Given the description of an element on the screen output the (x, y) to click on. 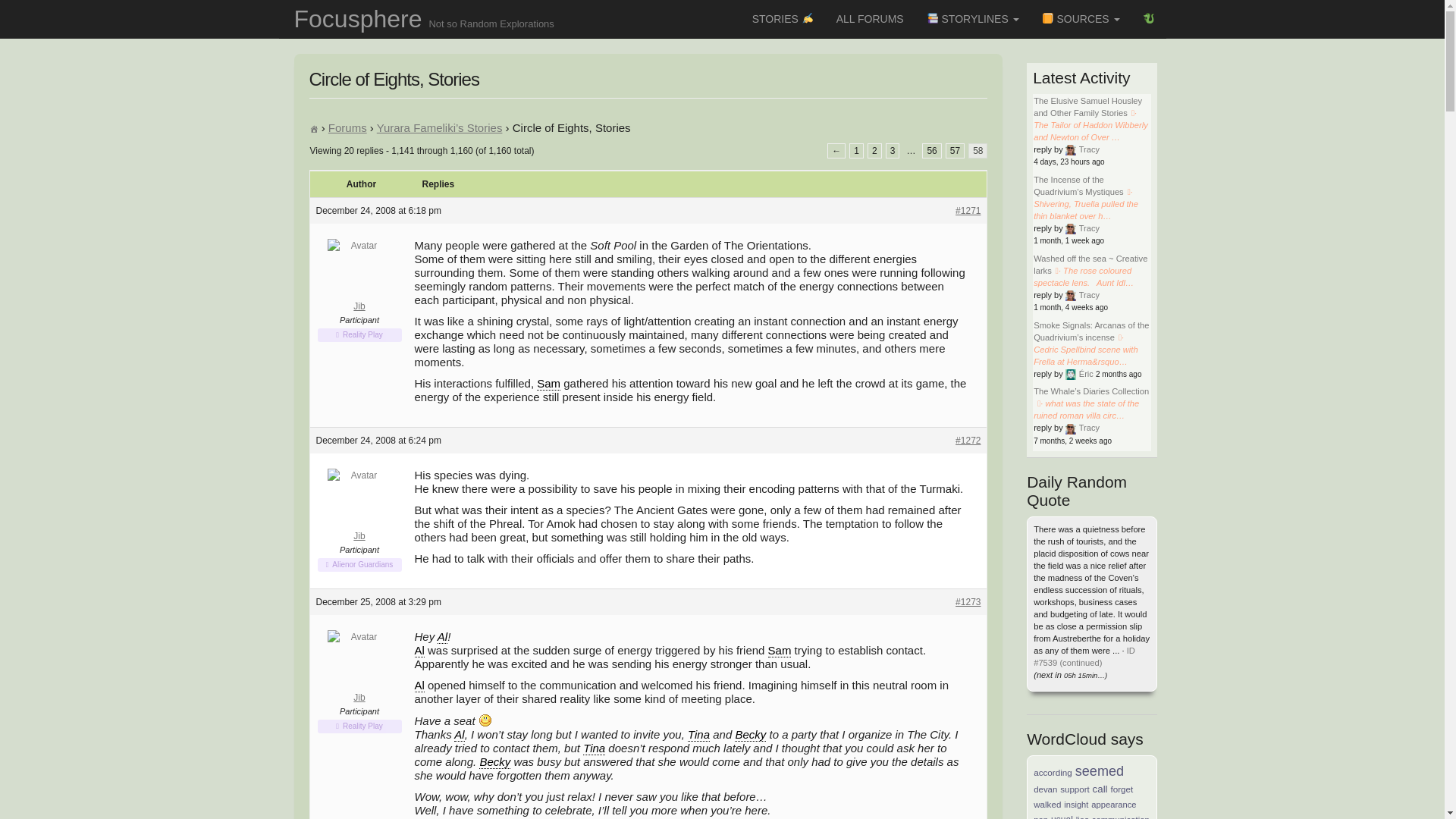
2 (874, 150)
Forums (347, 127)
Focusphere Not so Random Explorations (424, 18)
Jib (359, 667)
View Jib's profile (359, 276)
View Jib's profile (359, 506)
SOURCES (1080, 18)
View Jib's profile (359, 667)
Jib (359, 506)
Jib (359, 276)
